Given the description of an element on the screen output the (x, y) to click on. 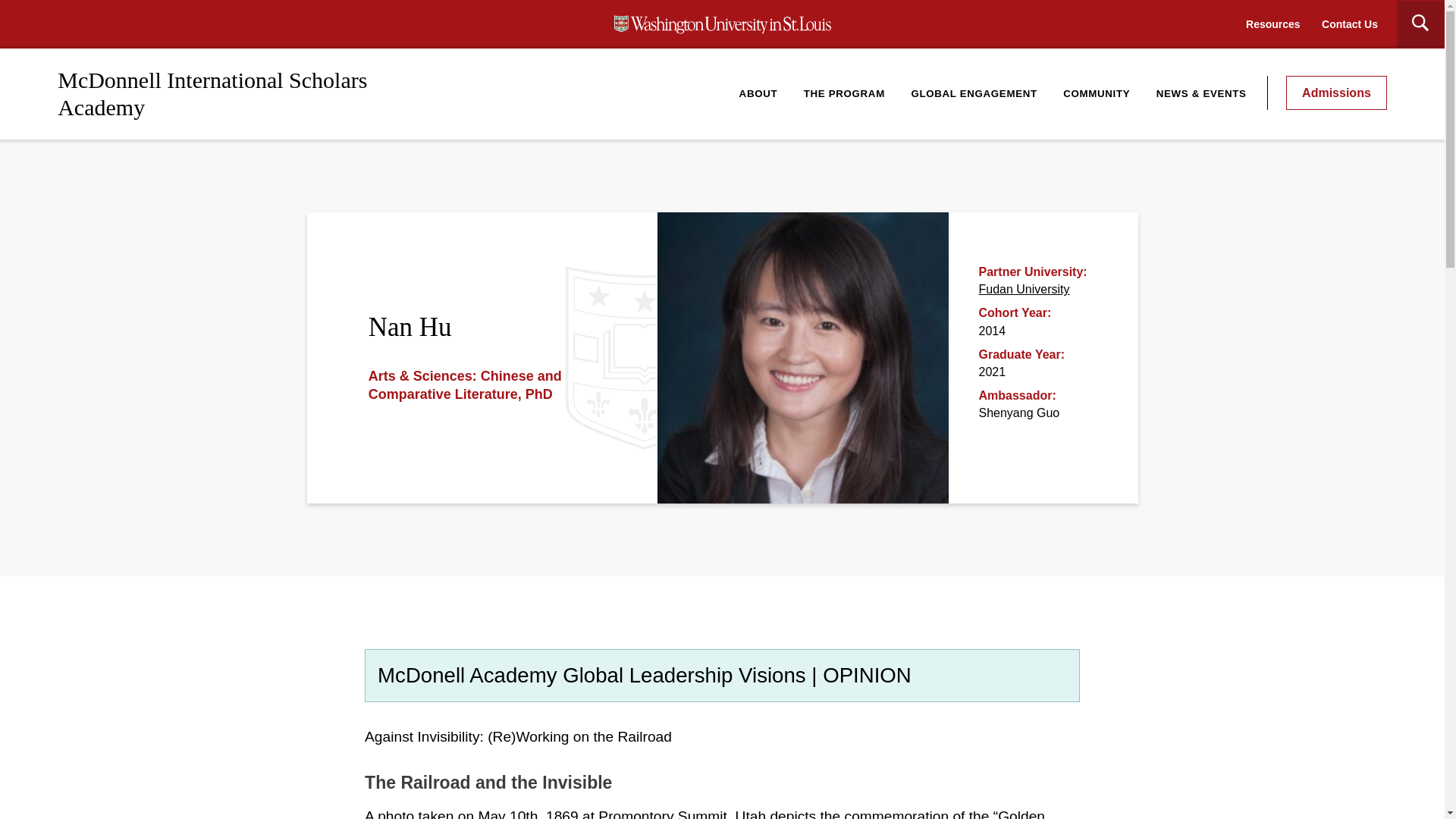
McDonnell International Scholars Academy (212, 93)
THE PROGRAM (844, 93)
Admissions (1336, 92)
ABOUT (758, 93)
Resources (1273, 23)
COMMUNITY (1096, 93)
Fudan University (1023, 288)
GLOBAL ENGAGEMENT (973, 93)
Contact Us (1349, 23)
